Given the description of an element on the screen output the (x, y) to click on. 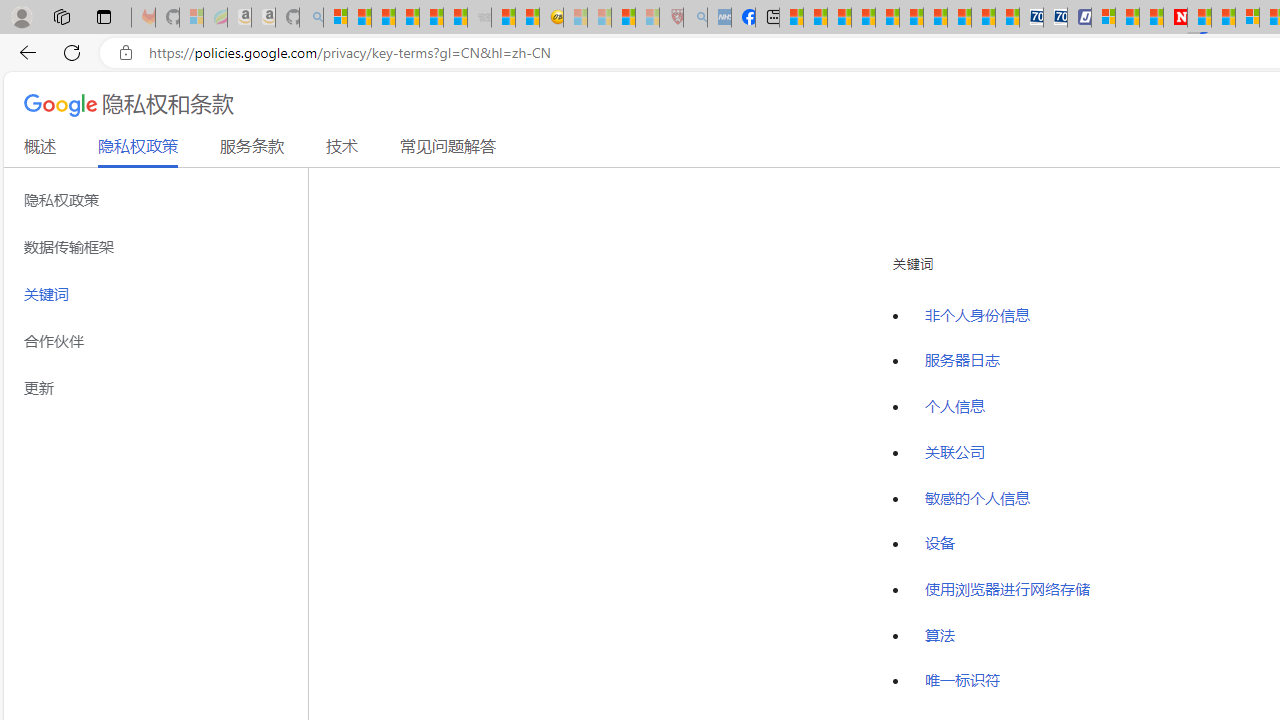
12 Popular Science Lies that Must be Corrected - Sleeping (647, 17)
New Report Confirms 2023 Was Record Hot | Watch (430, 17)
